Given the description of an element on the screen output the (x, y) to click on. 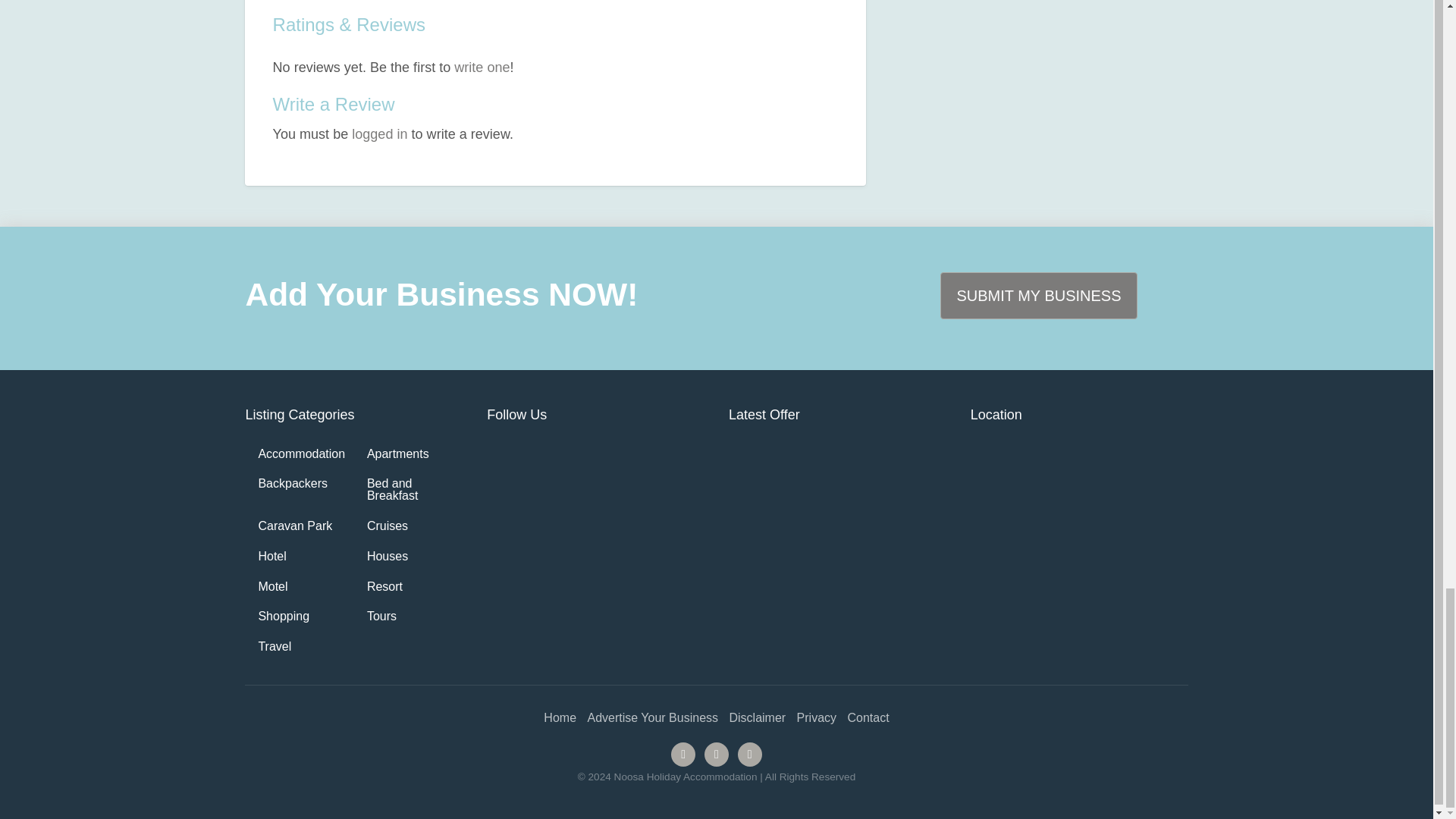
Instagram (749, 753)
Facebook (683, 753)
X (716, 753)
